Given the description of an element on the screen output the (x, y) to click on. 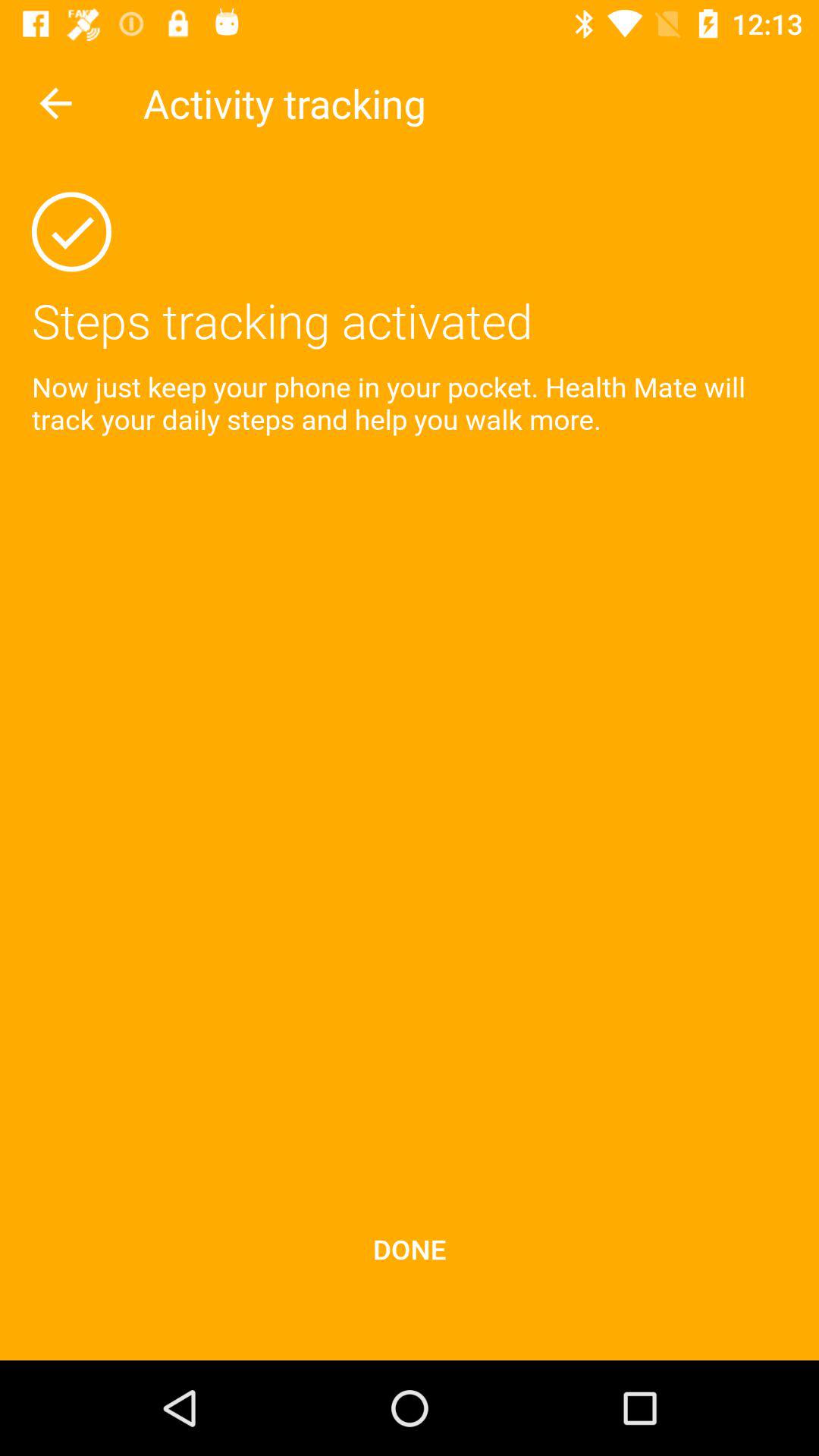
click the item next to the activity tracking icon (55, 103)
